Given the description of an element on the screen output the (x, y) to click on. 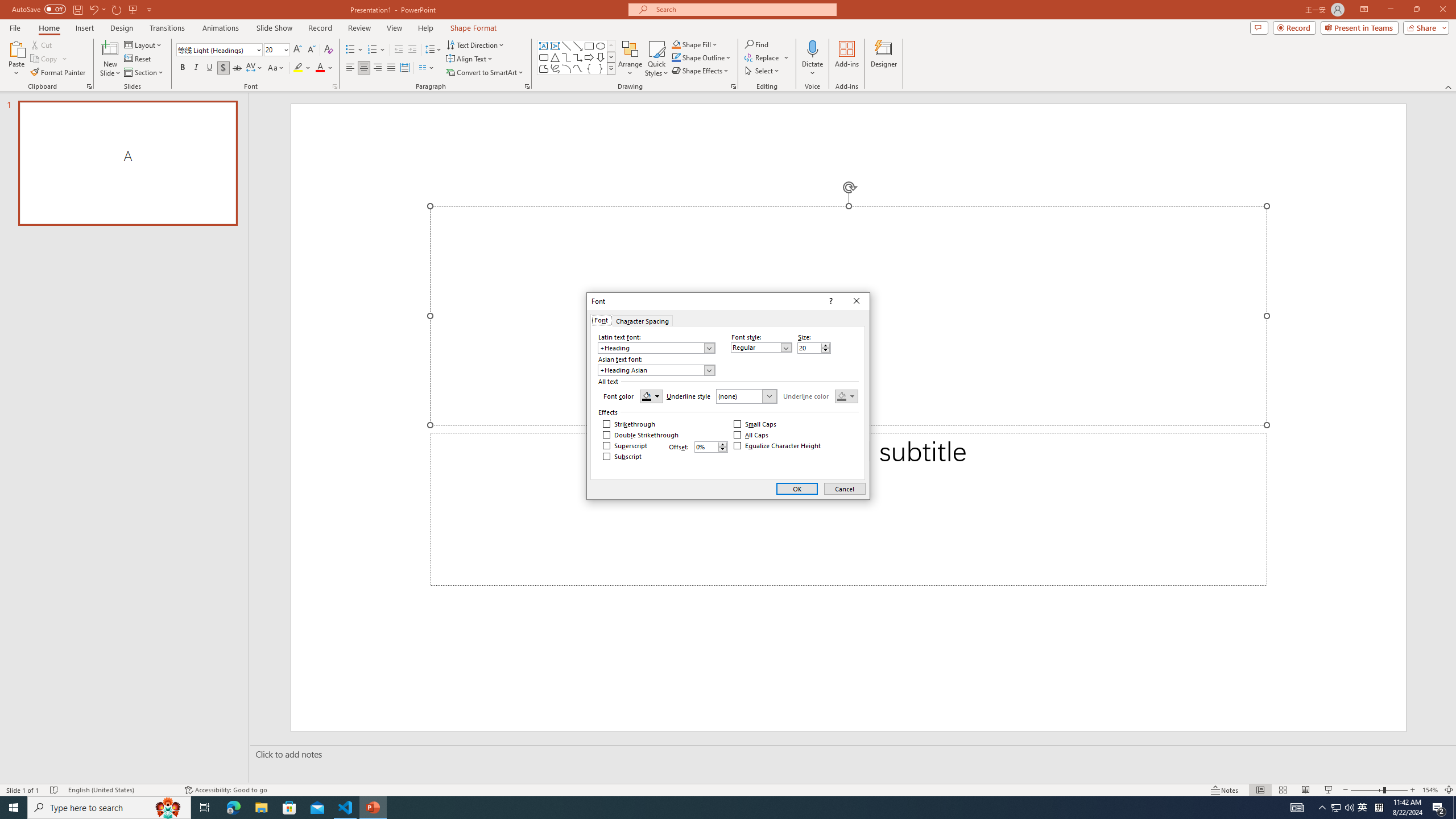
Row Down (611, 56)
Shapes (611, 68)
Copy (45, 58)
Arrow: Down (600, 57)
Vertical Text Box (554, 45)
Layout (143, 44)
Quick Styles (656, 58)
Visual Studio Code - 1 running window (345, 807)
Text Highlight Color Yellow (297, 67)
Type here to search (108, 807)
Right Brace (600, 68)
